Given the description of an element on the screen output the (x, y) to click on. 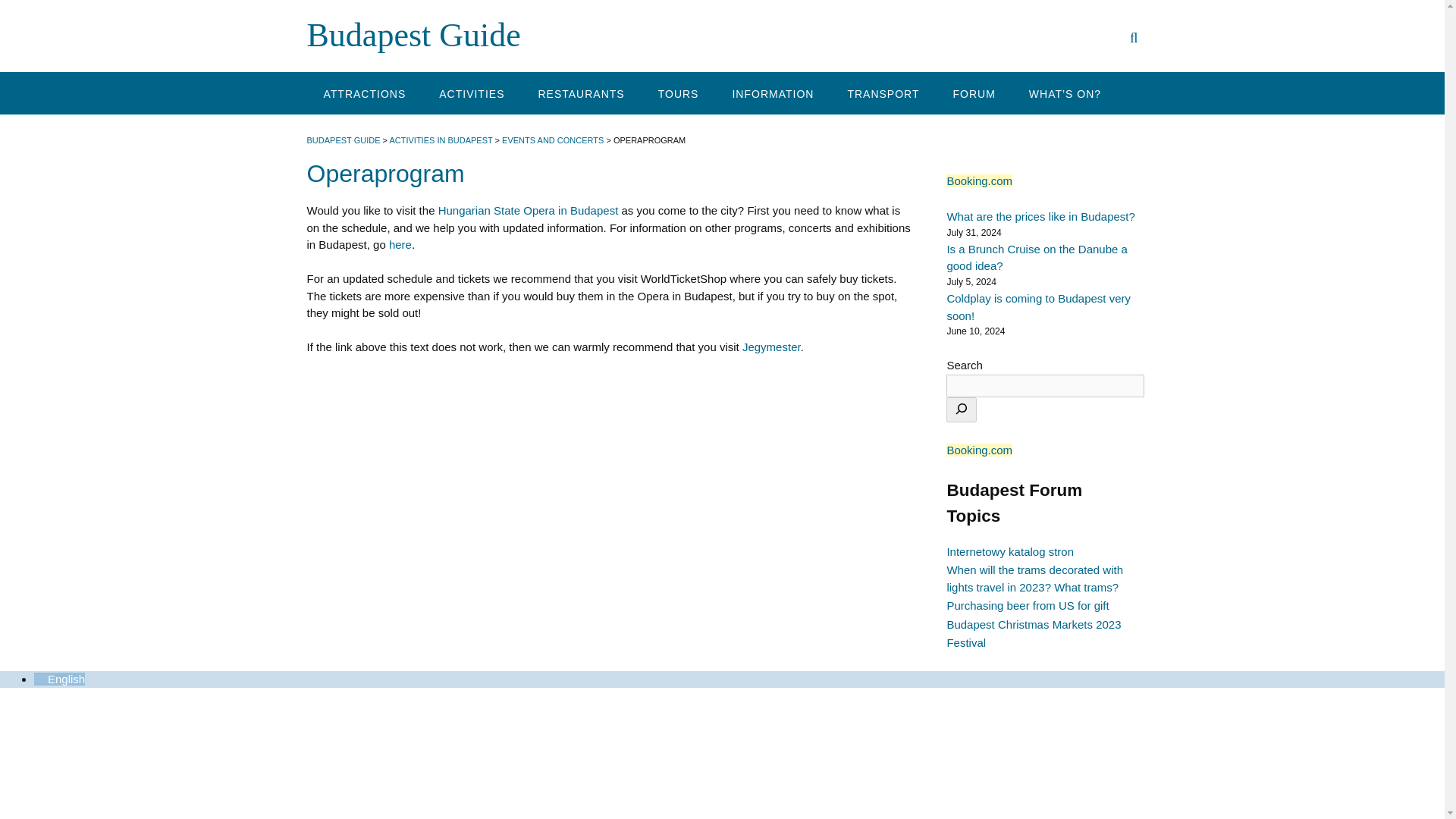
Go to Events and Concerts. (553, 139)
Go to Activities in Budapest. (440, 139)
Budapest Guide (412, 35)
Budapest Guide (412, 35)
Go to Budapest Guide. (342, 139)
ACTIVITIES (471, 92)
RESTAURANTS (580, 92)
ATTRACTIONS (363, 92)
